Given the description of an element on the screen output the (x, y) to click on. 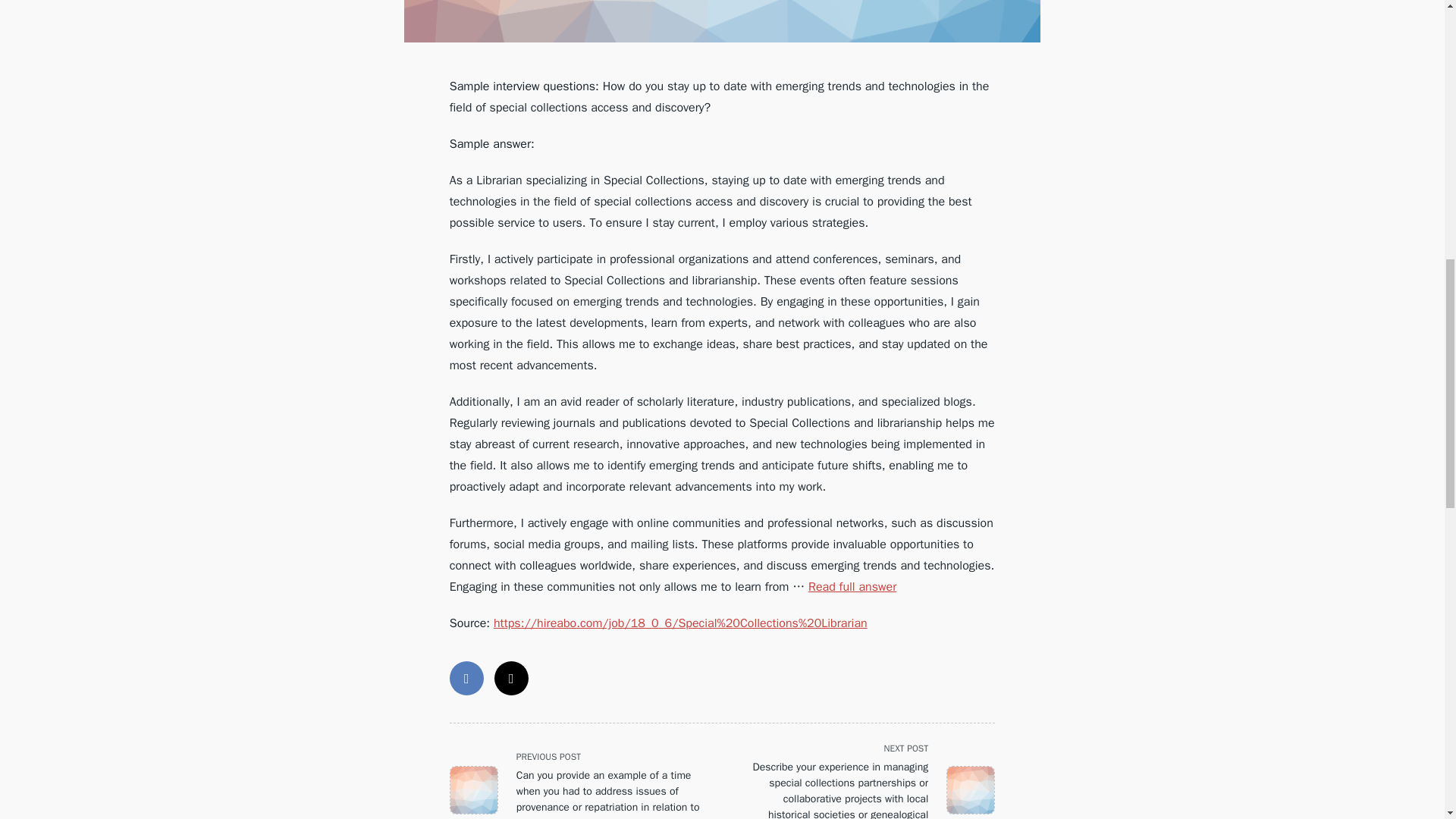
Read full answer (852, 586)
